Given the description of an element on the screen output the (x, y) to click on. 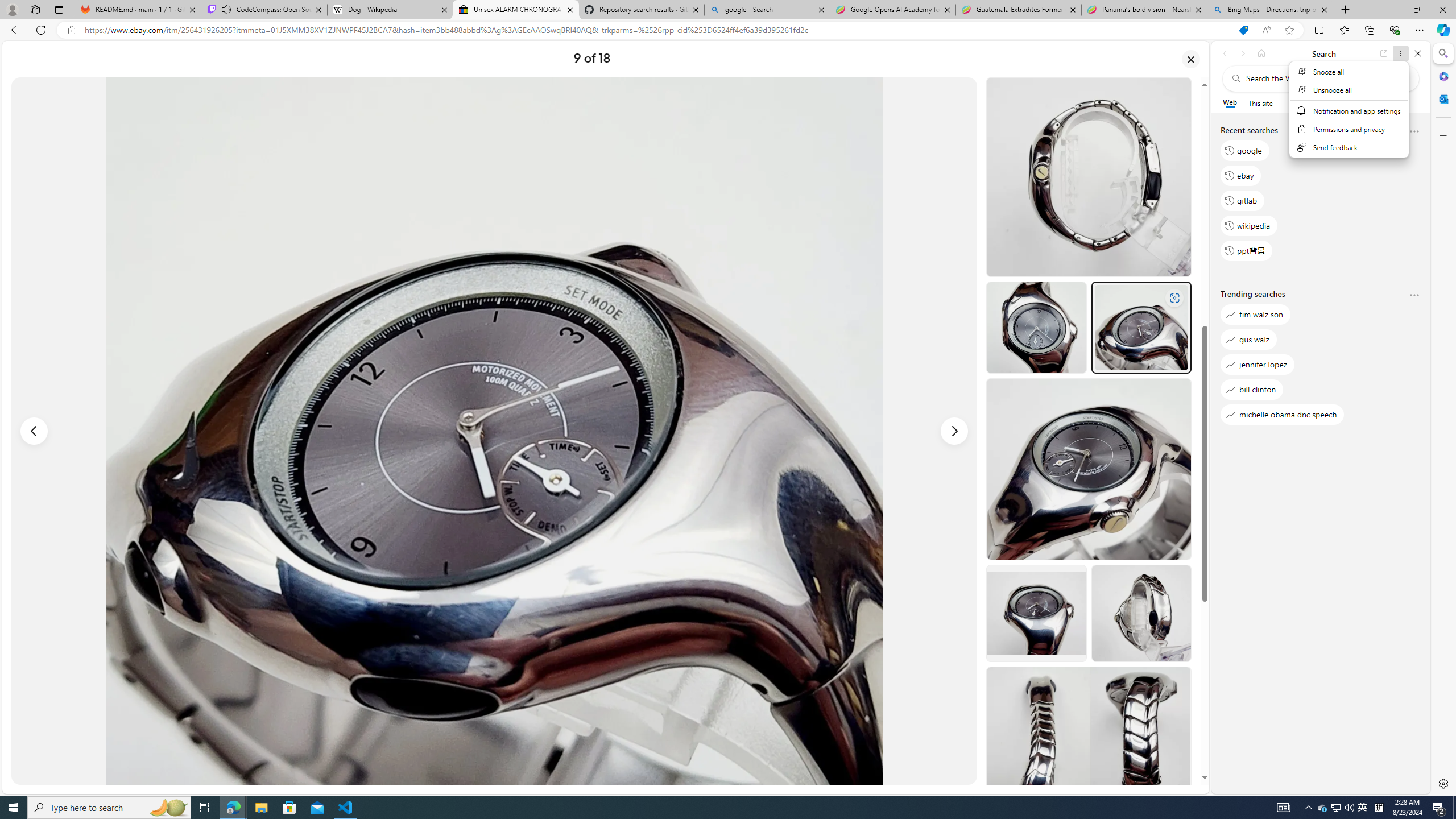
Mute tab (226, 8)
gitlab (1242, 200)
Send feedback (1349, 147)
Web scope (1230, 102)
